Given the description of an element on the screen output the (x, y) to click on. 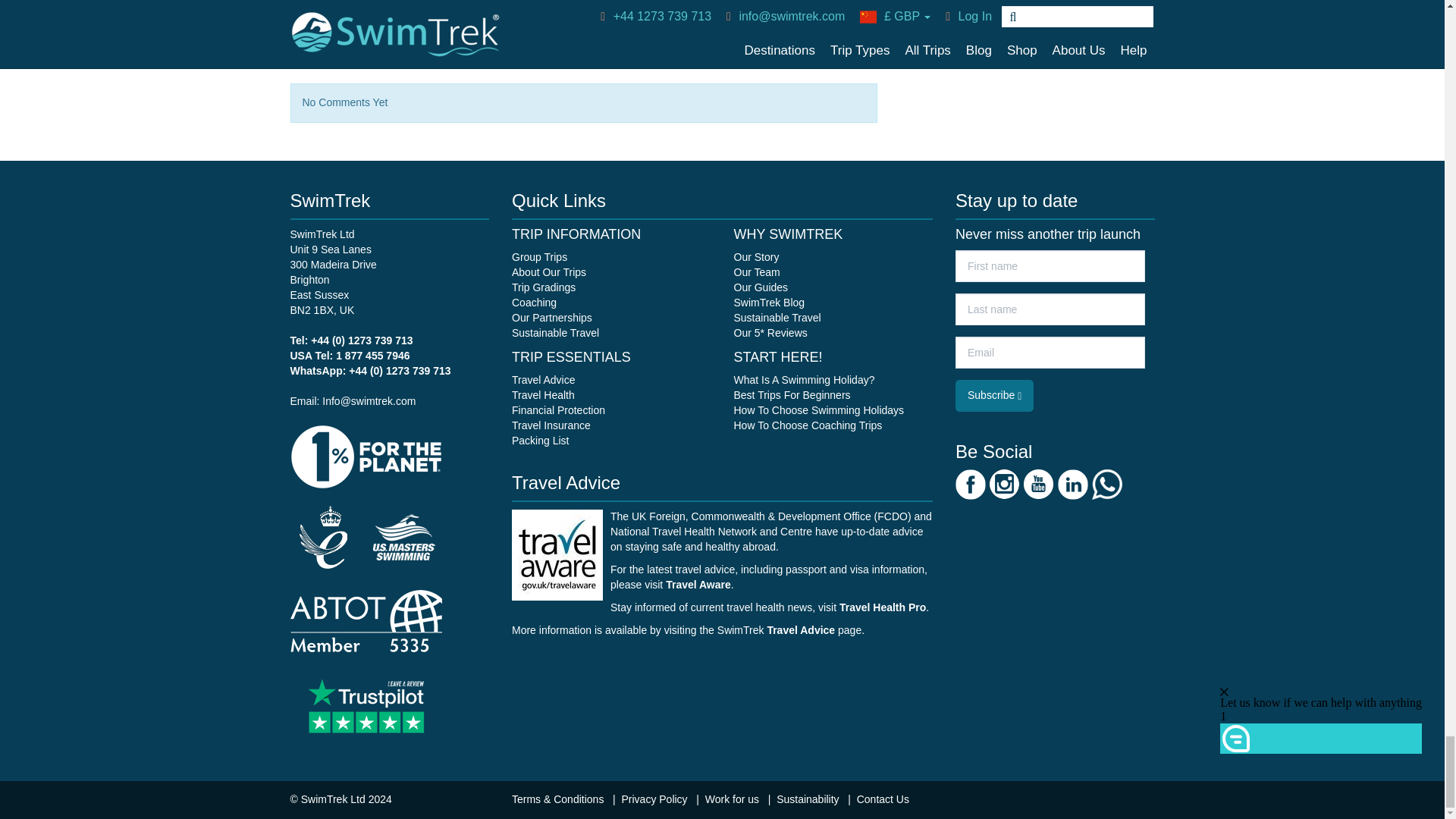
Trust Pilot 5 Stars (365, 704)
Financial Protection - ABTOT (365, 620)
Sustainability Initiatives (808, 799)
Work for us (732, 799)
Privacy Policy (655, 799)
One percent for the planet (365, 455)
Contact SwimTrek (882, 799)
